Given the description of an element on the screen output the (x, y) to click on. 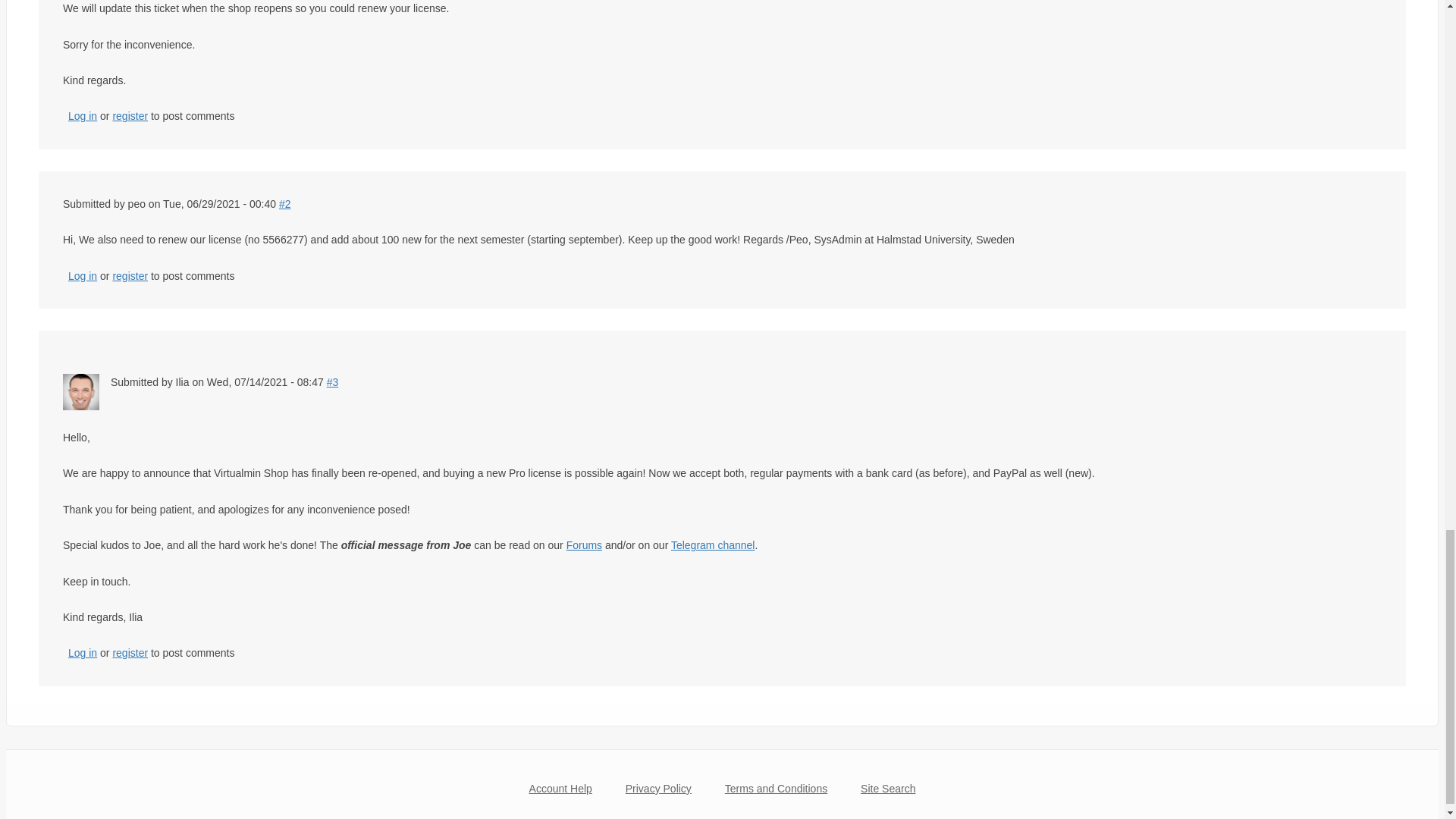
Log in (82, 275)
register (130, 653)
Our Privacy Policy (658, 794)
Search this site (887, 794)
Ilia's picture (80, 391)
Log in (82, 653)
register (130, 275)
Telegram channel (713, 544)
Site Search (887, 794)
Account Help (560, 794)
Terms and Conditions (776, 794)
Log in (82, 115)
Privacy Policy (658, 794)
How to use My Account (560, 794)
Our Terms and Conditions (776, 794)
